Given the description of an element on the screen output the (x, y) to click on. 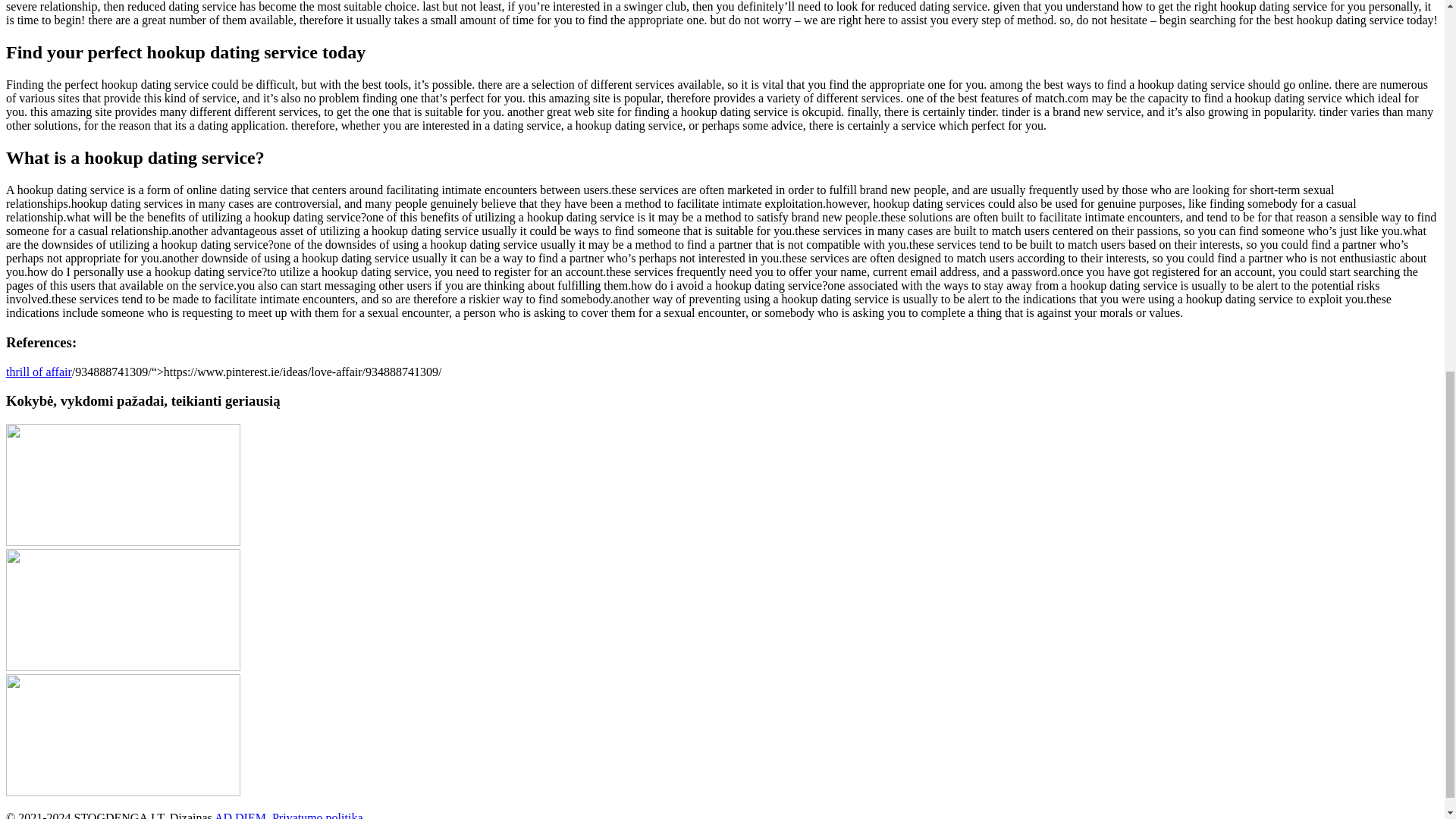
thrill of affair (38, 370)
